Given the description of an element on the screen output the (x, y) to click on. 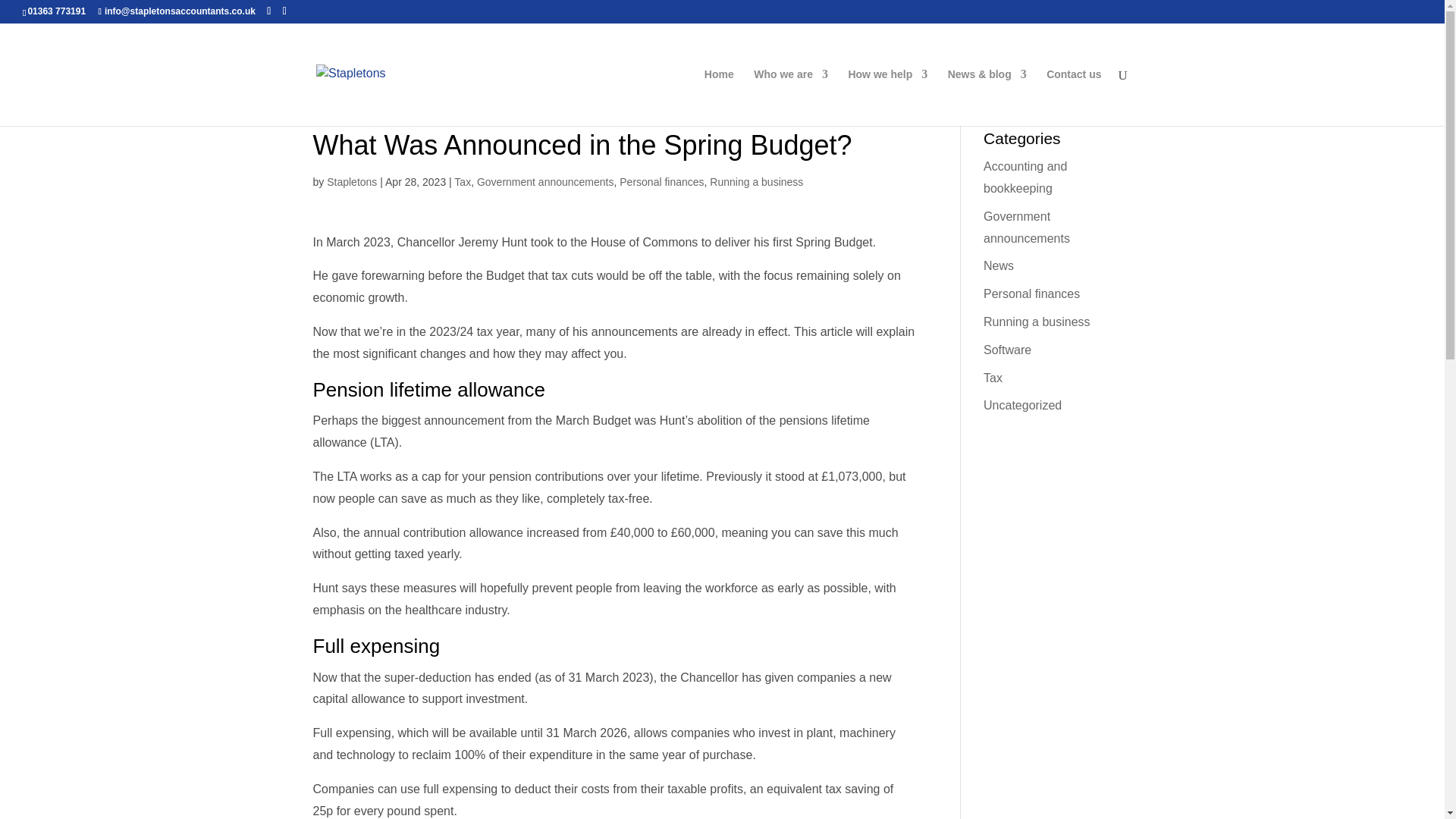
Contact us (1073, 97)
How we help (887, 97)
Posts by Stapletons (351, 182)
Tax (462, 182)
Government announcements (545, 182)
Stapletons (351, 182)
01363 773191 (56, 10)
Who we are (791, 97)
